Given the description of an element on the screen output the (x, y) to click on. 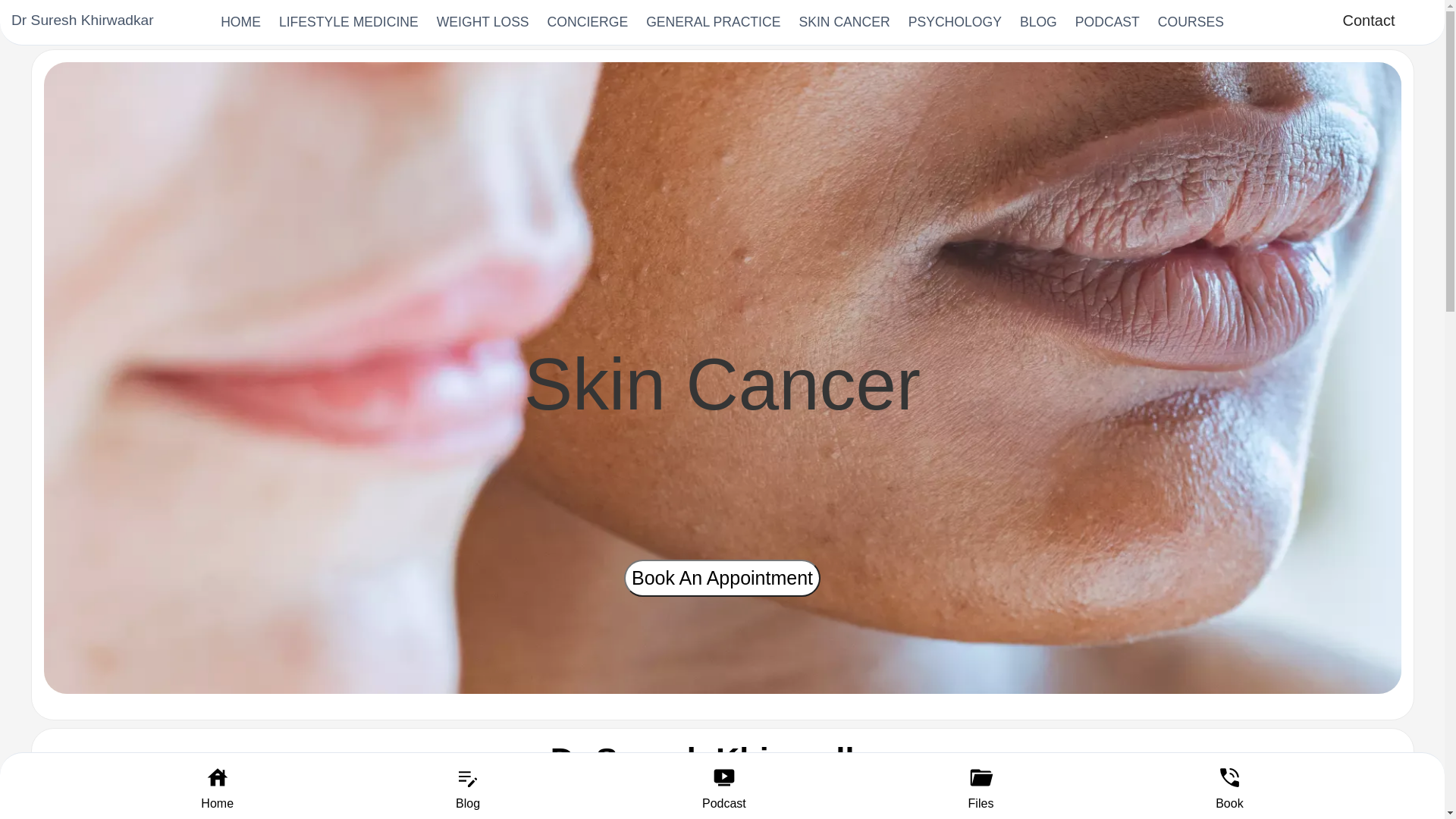
BLOG Element type: text (1038, 22)
Contact Element type: text (1368, 20)
LIFESTYLE MEDICINE Element type: text (348, 22)
GENERAL PRACTICE Element type: text (713, 22)
PODCAST Element type: text (1107, 22)
Podcast Element type: text (724, 801)
Blog Element type: text (467, 801)
COURSES Element type: text (1190, 22)
CONCIERGE Element type: text (587, 22)
Book Element type: text (1228, 801)
Book An Appointment Element type: text (722, 577)
WEIGHT LOSS Element type: text (482, 22)
PSYCHOLOGY Element type: text (954, 22)
HOME Element type: text (240, 22)
Home Element type: text (216, 801)
Files Element type: text (981, 801)
Dr Suresh Khirwadkar Element type: text (82, 20)
SKIN CANCER Element type: text (843, 22)
